Given the description of an element on the screen output the (x, y) to click on. 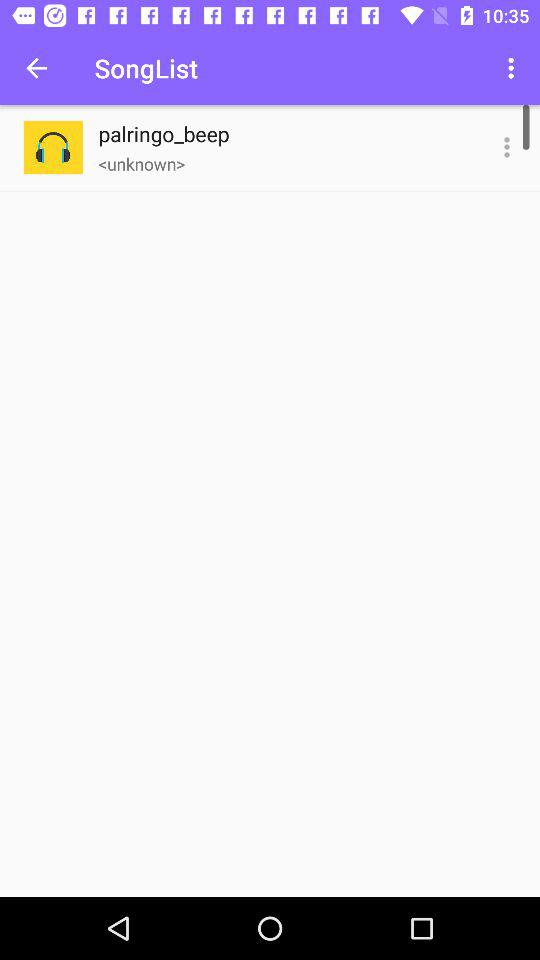
turn off item next to palringo_beep (506, 147)
